Given the description of an element on the screen output the (x, y) to click on. 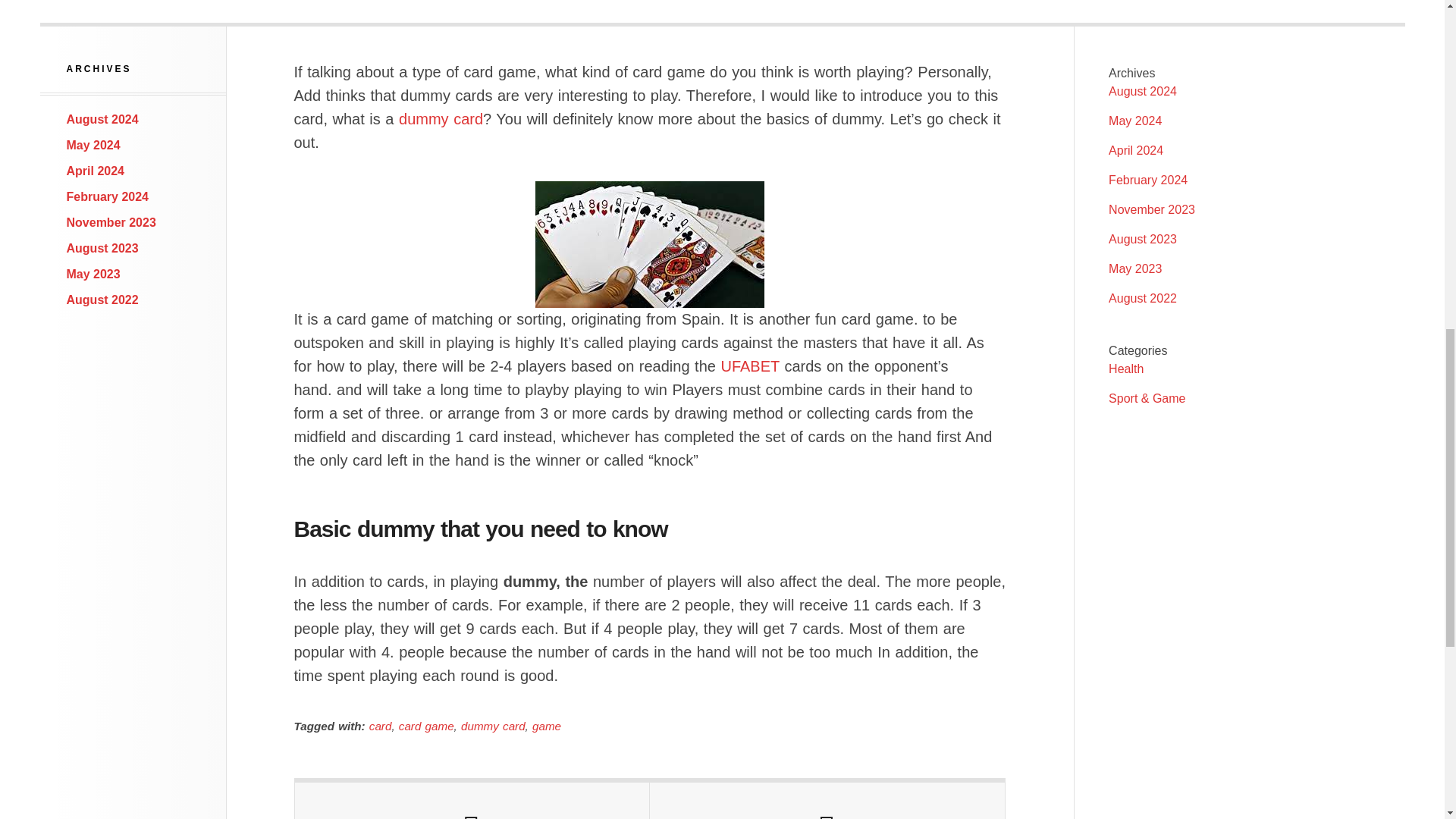
August 2023 (1142, 238)
UFABET (749, 365)
May 2024 (93, 144)
card (380, 725)
dummy card (493, 725)
February 2024 (107, 196)
August 2023 (102, 247)
game (546, 725)
Previous Post (471, 800)
May 2023 (93, 273)
